Given the description of an element on the screen output the (x, y) to click on. 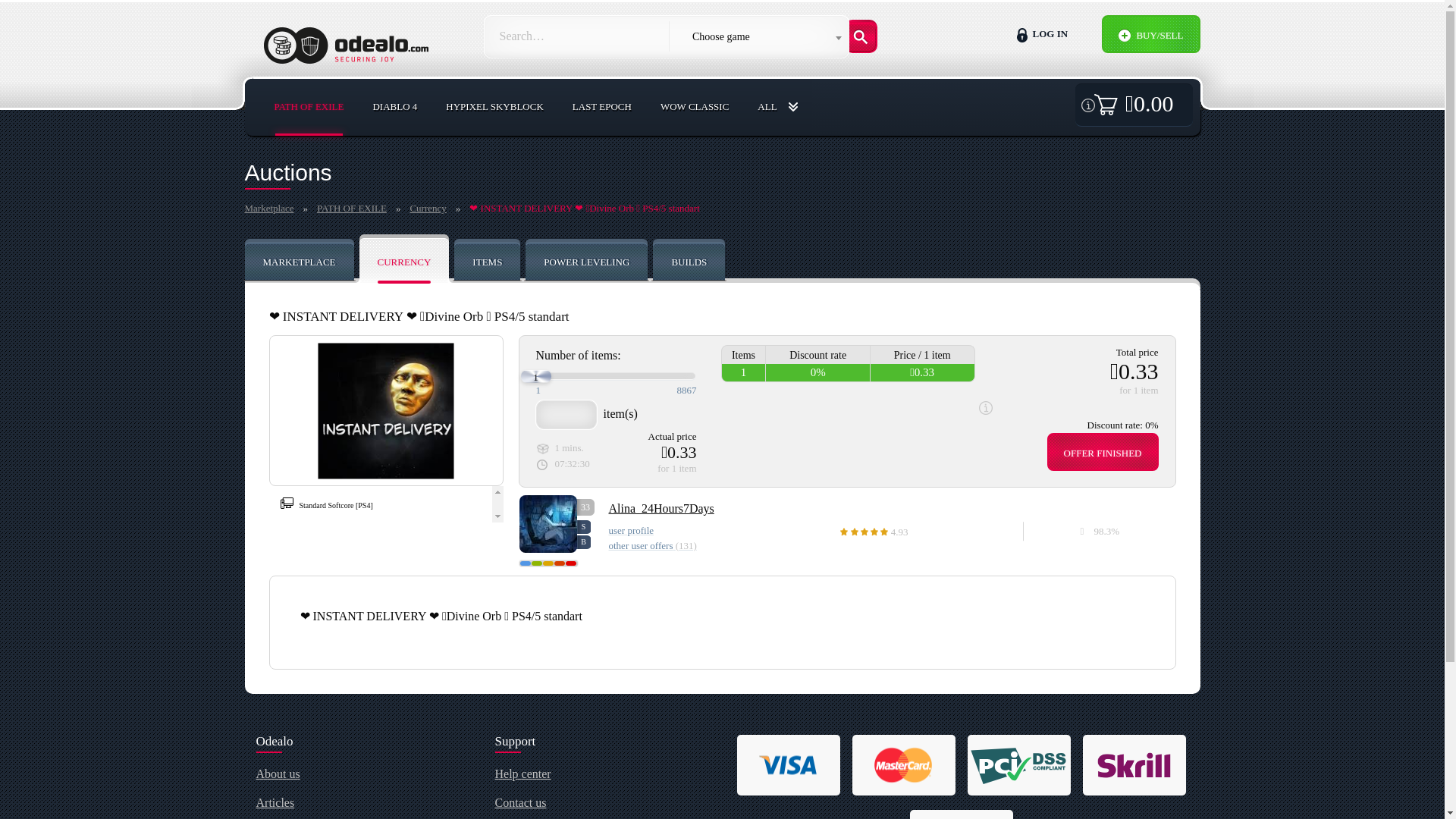
LAST EPOCH (601, 105)
DIABLO 4 (394, 105)
Hypixel Skyblock Marketplace (494, 105)
Last Epoch Marketplace (601, 105)
PATH OF EXILE (309, 105)
WOW CLASSIC (695, 105)
Diablo 4 Marketplace (394, 105)
0.00 (1133, 103)
LOG IN (721, 259)
ALL (542, 259)
Path of Exile Marketplace (1059, 34)
Choose game (776, 105)
HYPIXEL SKYBLOCK (309, 105)
